Given the description of an element on the screen output the (x, y) to click on. 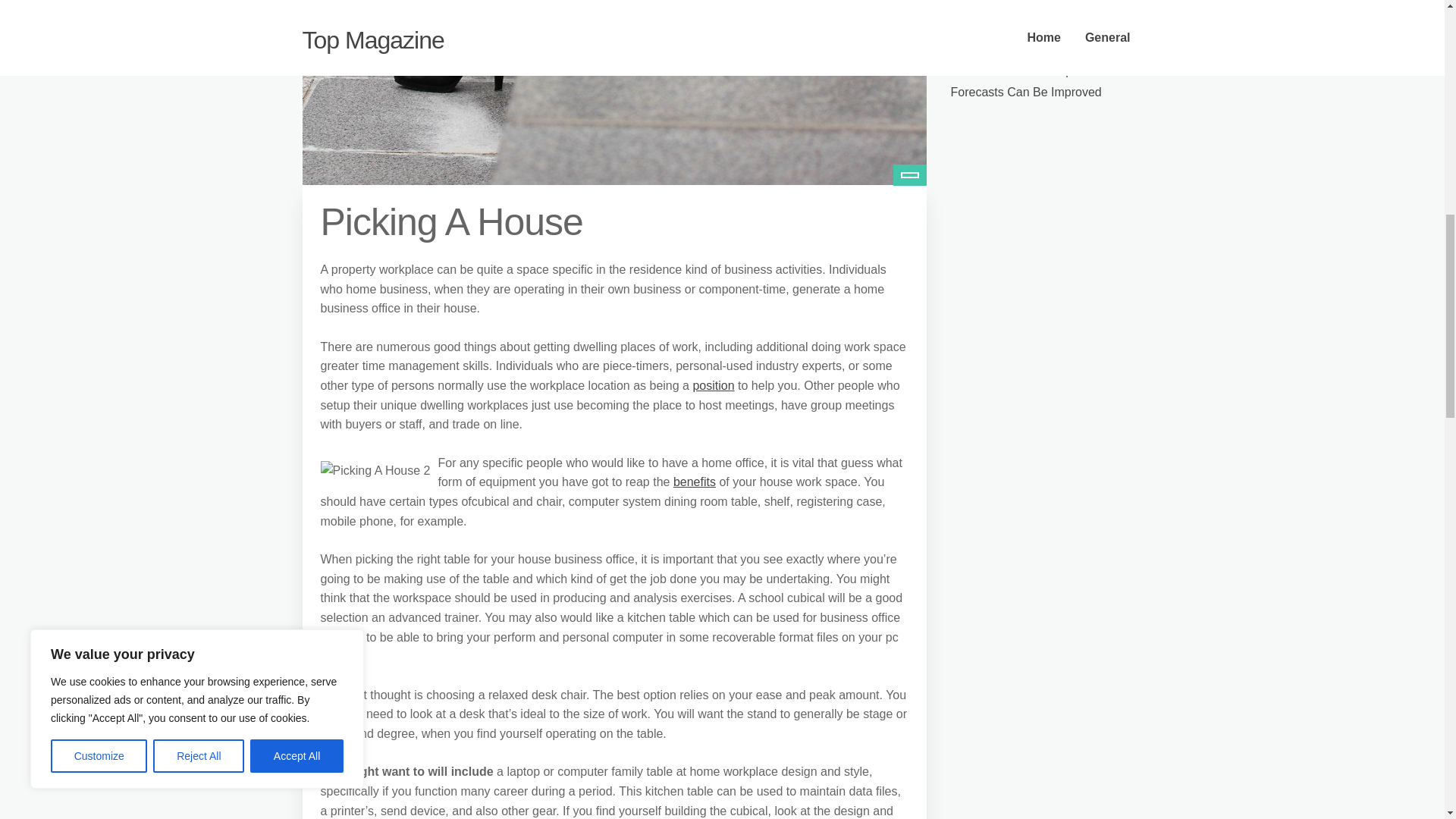
position (713, 385)
benefits (694, 481)
